Given the description of an element on the screen output the (x, y) to click on. 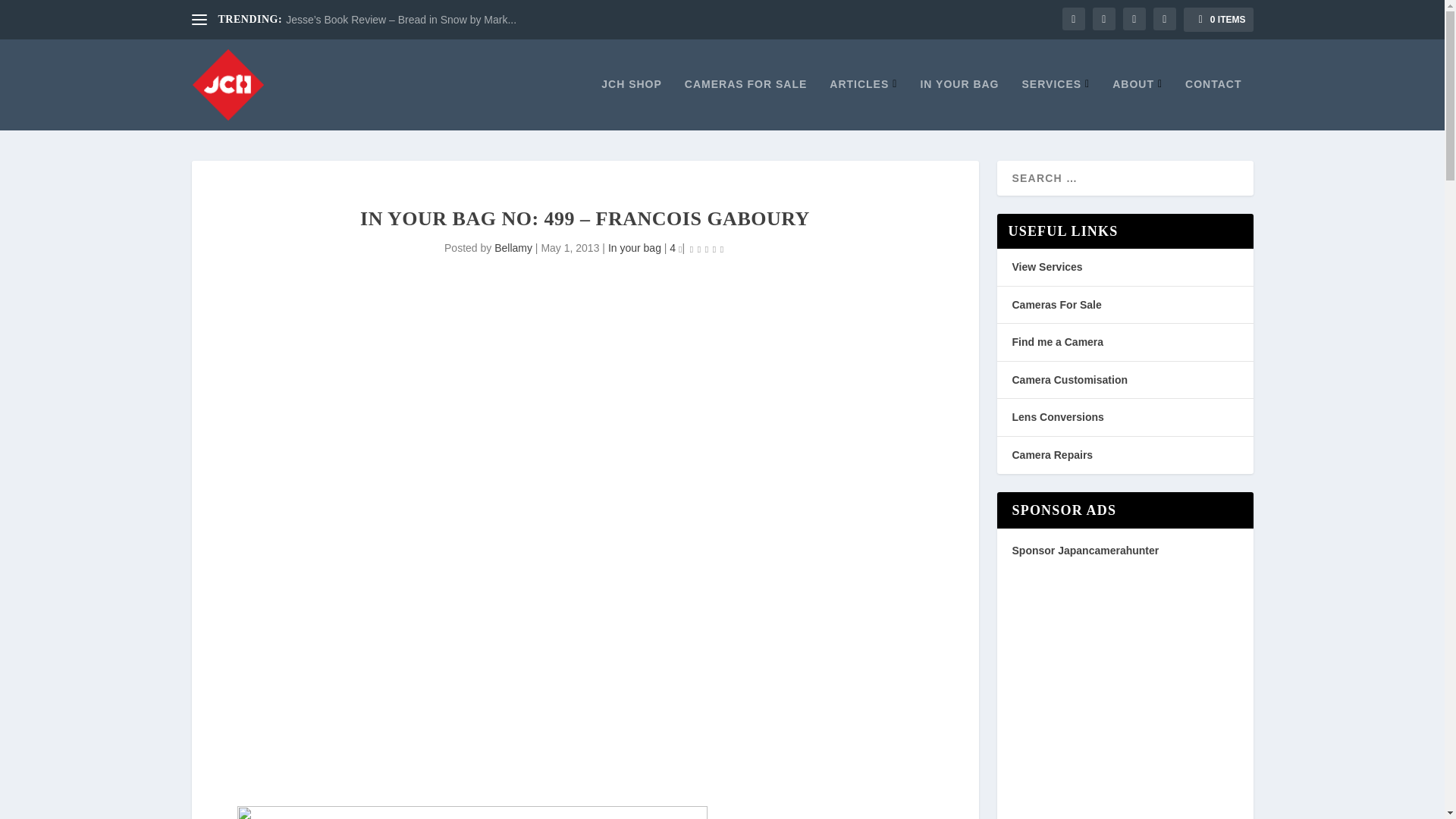
Click here for more (470, 812)
0 Items in Cart (1218, 19)
Rating: 0.00 (706, 248)
Posts by Bellamy (513, 247)
CAMERAS FOR SALE (745, 103)
ABout Japan Camera Hunter (1136, 103)
ABOUT (1136, 103)
ARTICLES (862, 103)
0 ITEMS (1218, 19)
In Your Bag (959, 103)
IN YOUR BAG (959, 103)
JCH SHOP (631, 103)
SERVICES (1056, 103)
